Given the description of an element on the screen output the (x, y) to click on. 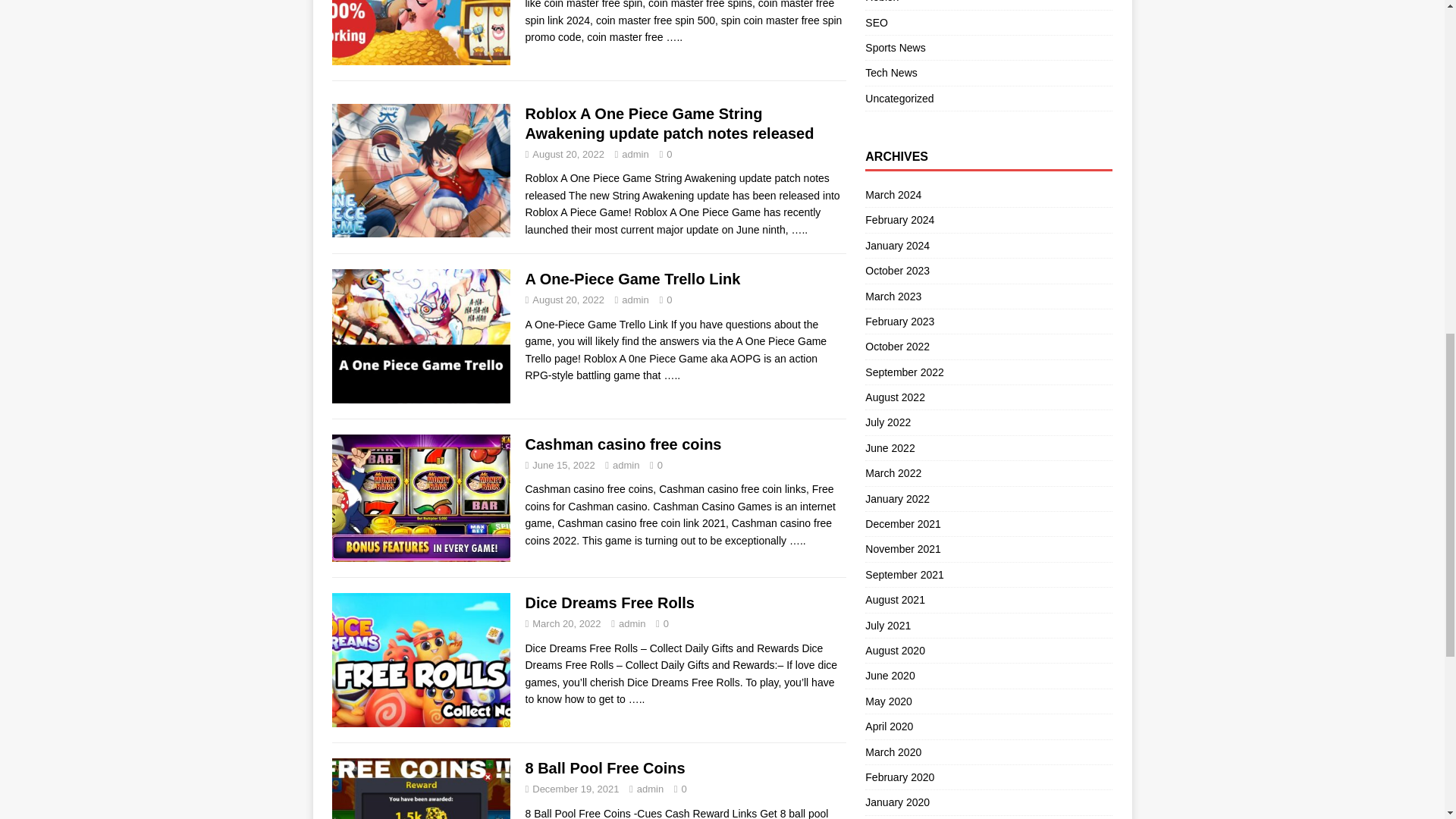
A One-Piece Game Trello Link (671, 375)
Dice Dreams Free Rolls (636, 698)
Cashman casino free coins (797, 540)
